Given the description of an element on the screen output the (x, y) to click on. 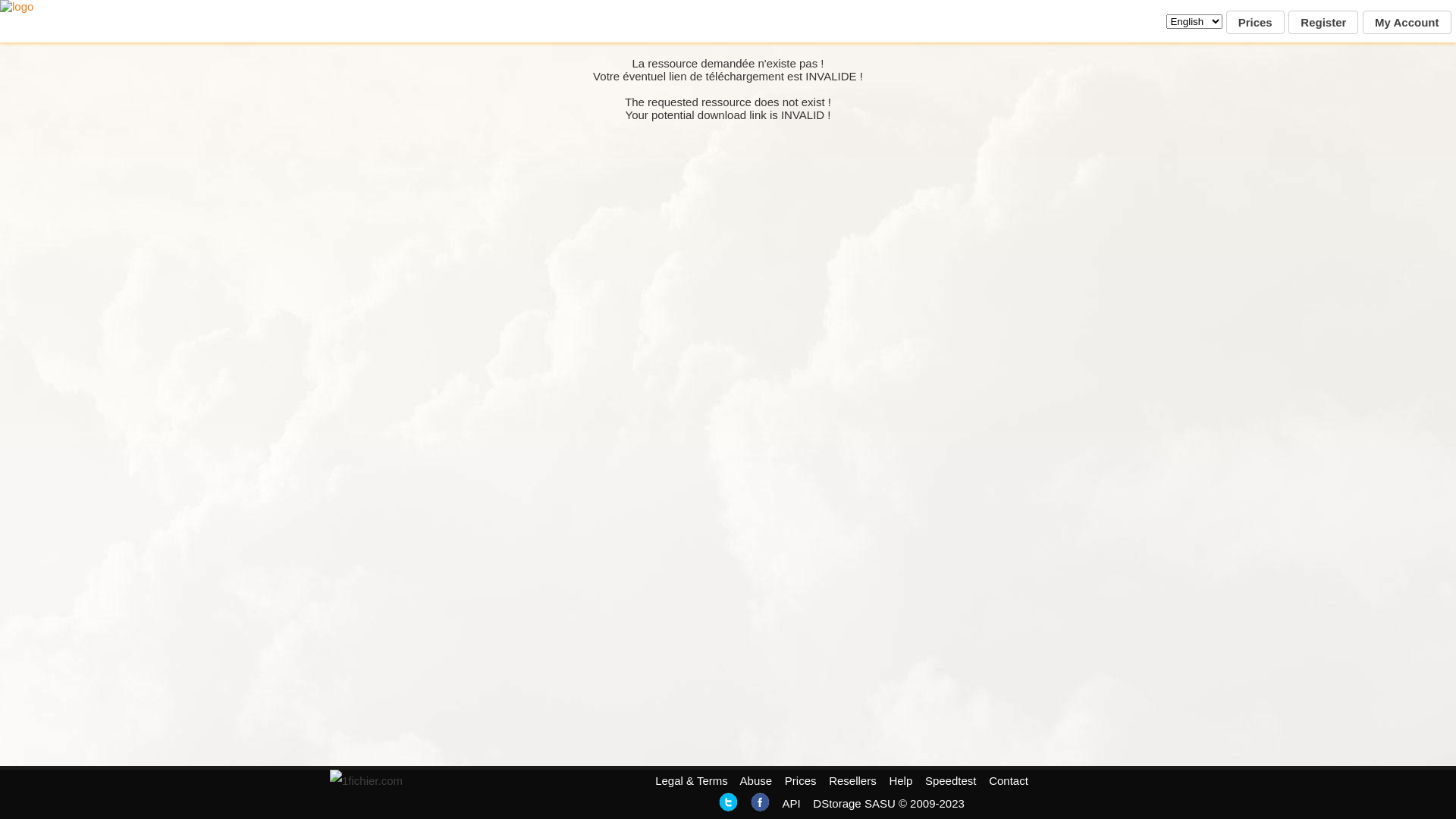
Prices Element type: text (1255, 22)
Prices Element type: text (800, 780)
My Account Element type: text (1406, 22)
Help Element type: text (900, 780)
Speedtest Element type: text (950, 780)
Contact Element type: text (1008, 780)
Abuse Element type: text (756, 780)
Register Element type: text (1323, 22)
API Element type: text (790, 803)
Legal & Terms Element type: text (691, 780)
Resellers Element type: text (852, 780)
